Given the description of an element on the screen output the (x, y) to click on. 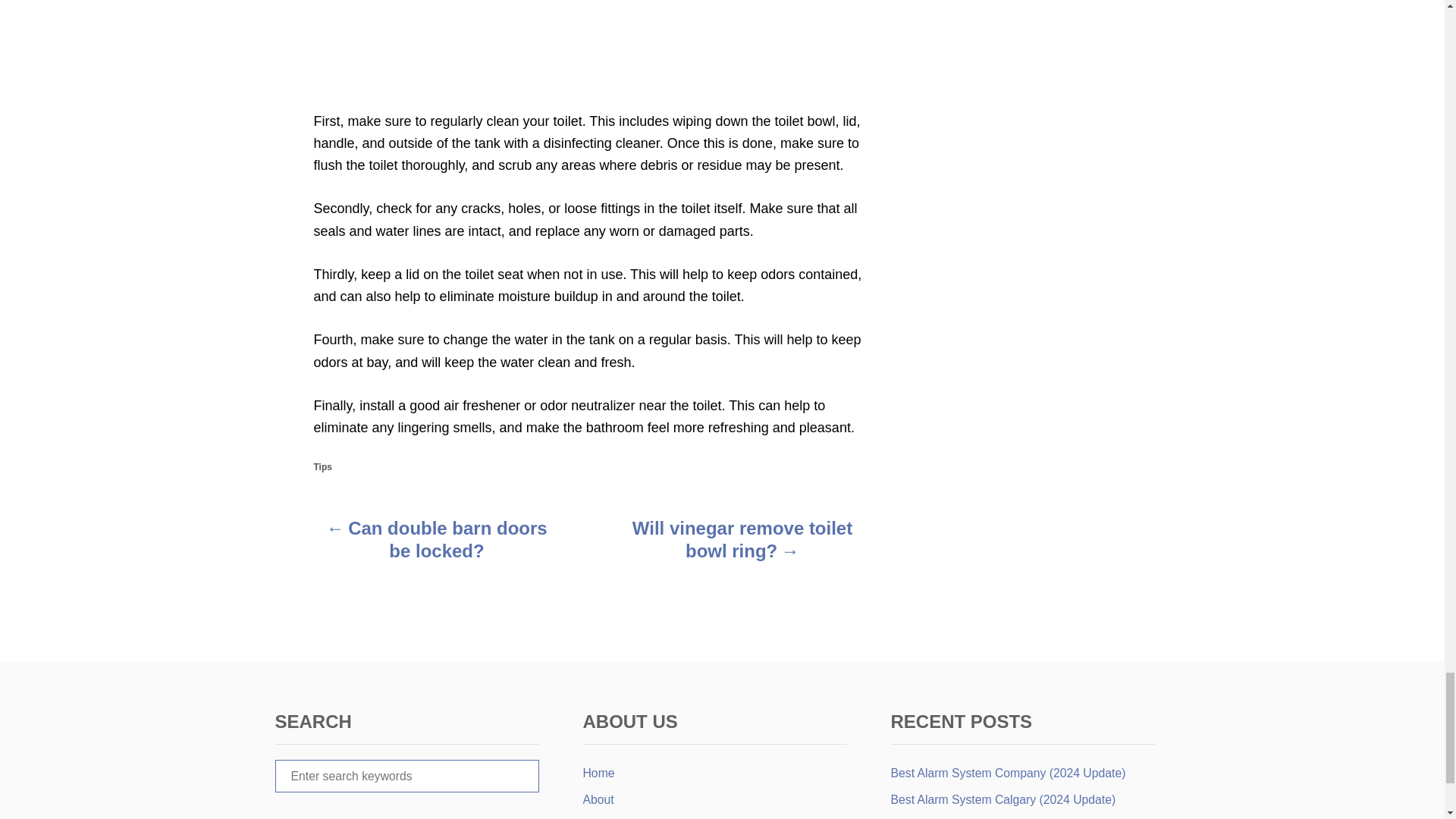
YouTube player (590, 40)
Tips (322, 466)
Search for: (406, 776)
